Given the description of an element on the screen output the (x, y) to click on. 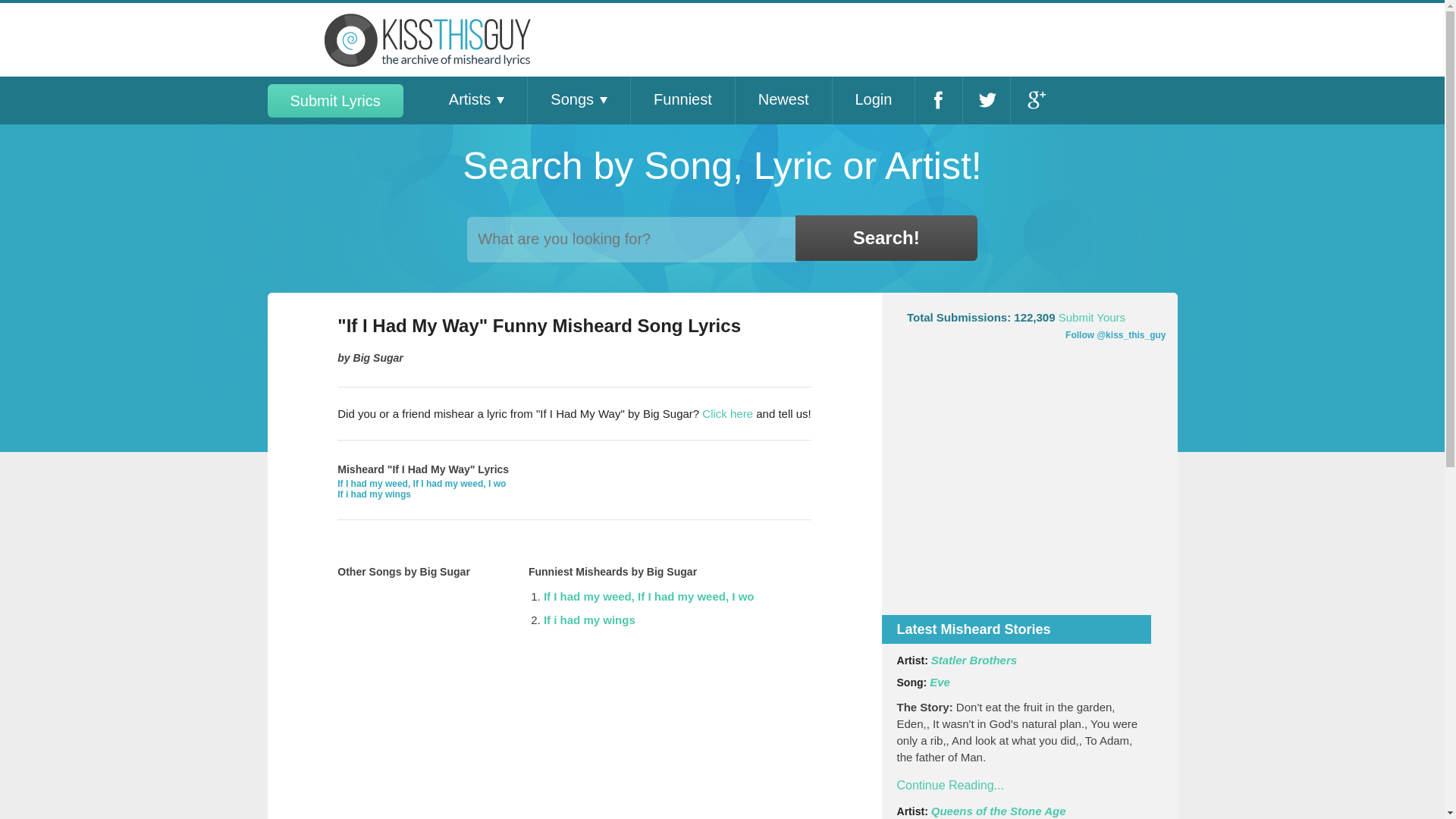
Search! (885, 238)
Advertisement (1029, 492)
Submit a misheard lyric (726, 413)
'If i had my wings' is a misheard lyric of Big Sugar (588, 619)
'If i had my wings' is a misheard lyric of Big Sugar (373, 493)
